Given the description of an element on the screen output the (x, y) to click on. 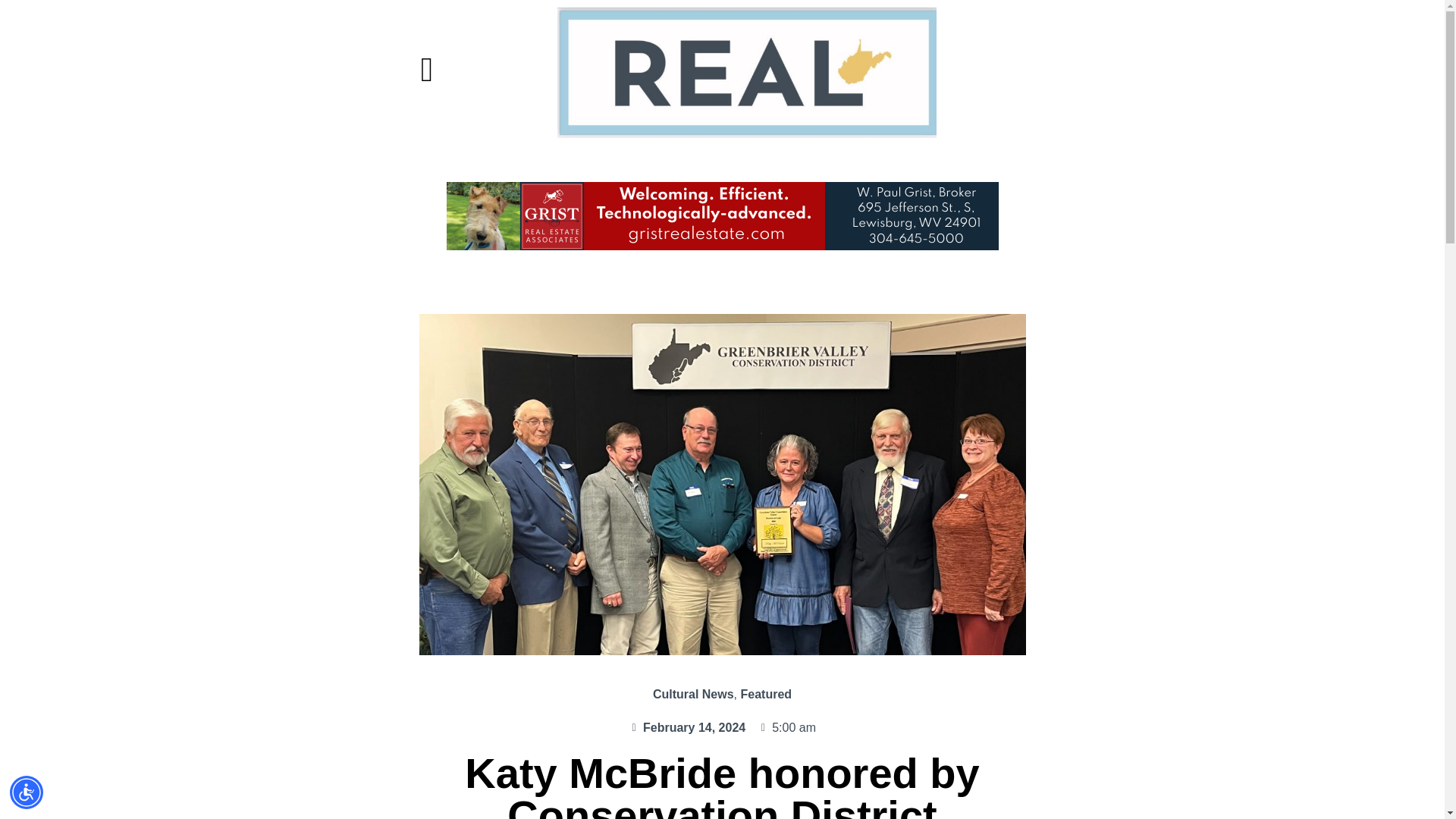
Cultural News (692, 694)
February 14, 2024 (686, 728)
Featured (765, 694)
Accessibility Menu (26, 792)
